Given the description of an element on the screen output the (x, y) to click on. 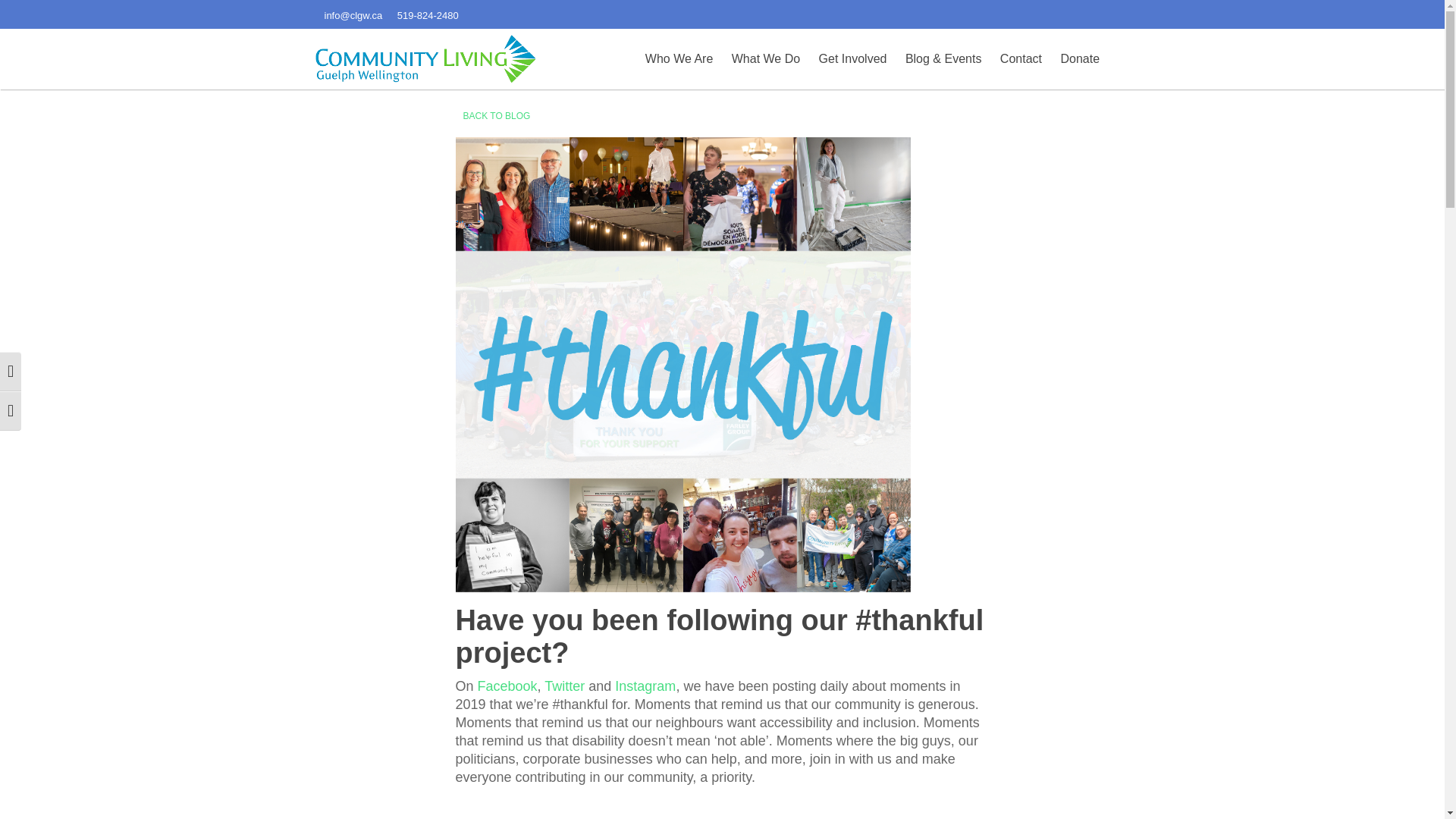
Get Involved (852, 58)
Who We Are (679, 58)
Toggle High Contrast (10, 371)
519-824-2480 (427, 14)
What We Do (765, 58)
Toggle Font size (10, 410)
Donate (1079, 58)
Contact (1021, 58)
